Given the description of an element on the screen output the (x, y) to click on. 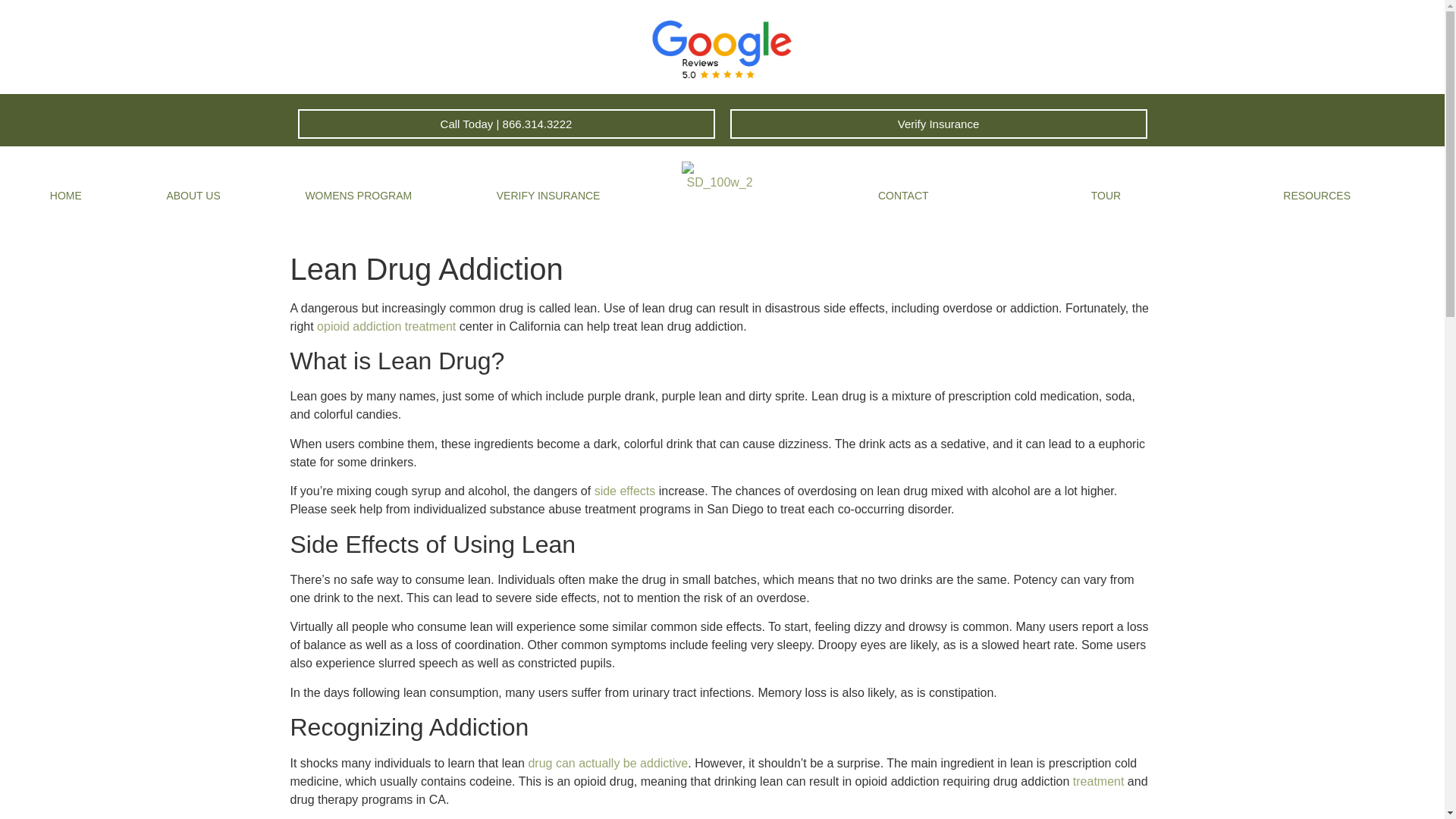
HOME (65, 195)
Verify Insurance (938, 123)
WOMENS PROGRAM (358, 195)
ABOUT US (193, 195)
VERIFY INSURANCE (548, 195)
